Given the description of an element on the screen output the (x, y) to click on. 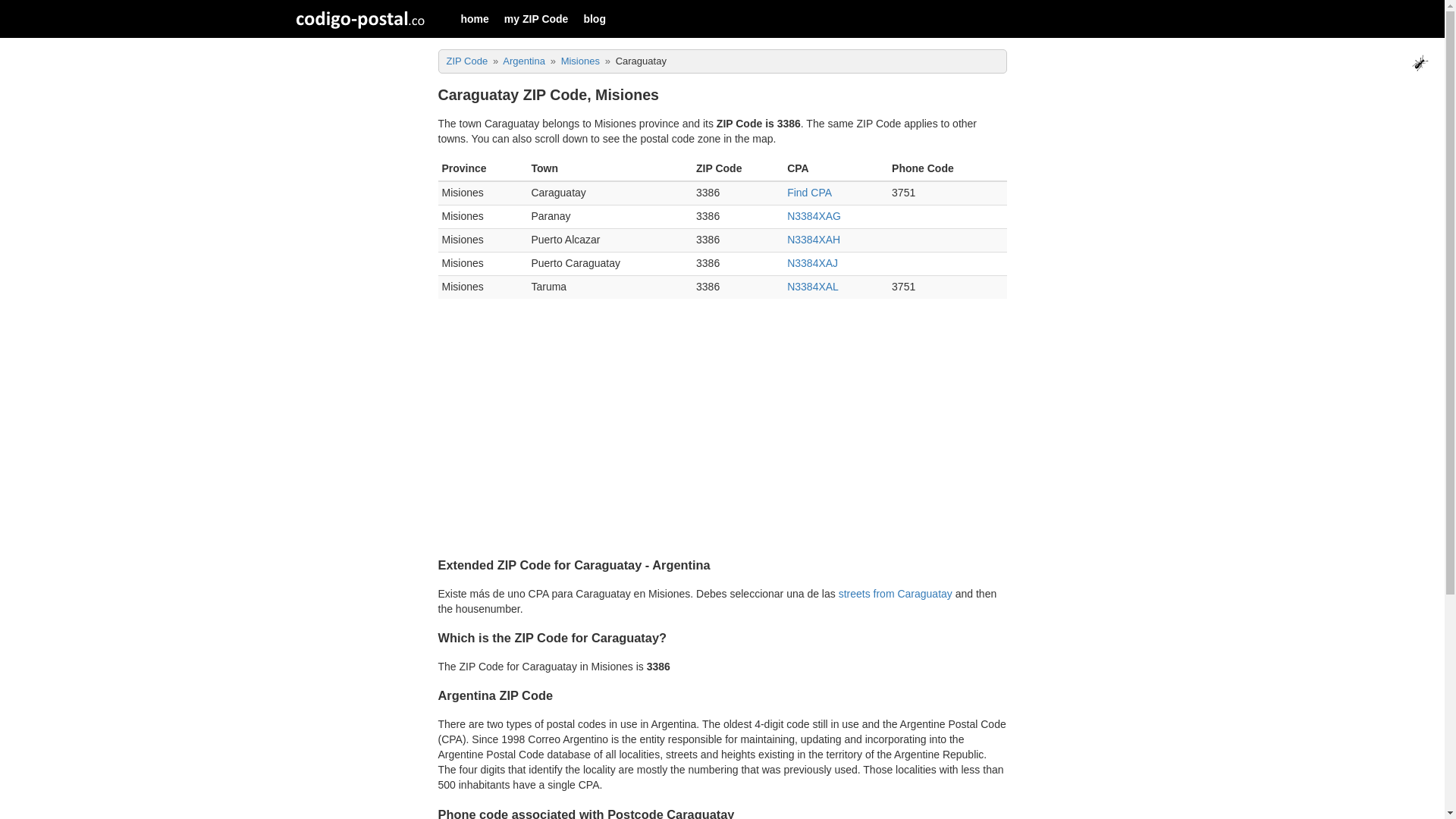
N3384XAL (812, 286)
Advertisement (722, 434)
streets from Caraguatay (895, 593)
N3384XAH (813, 239)
my ZIP Code (536, 19)
Misiones (579, 60)
Argentina (523, 60)
N3384XAJ (812, 263)
Streets from Caraguatay (895, 593)
ZIP Code (466, 60)
